Given the description of an element on the screen output the (x, y) to click on. 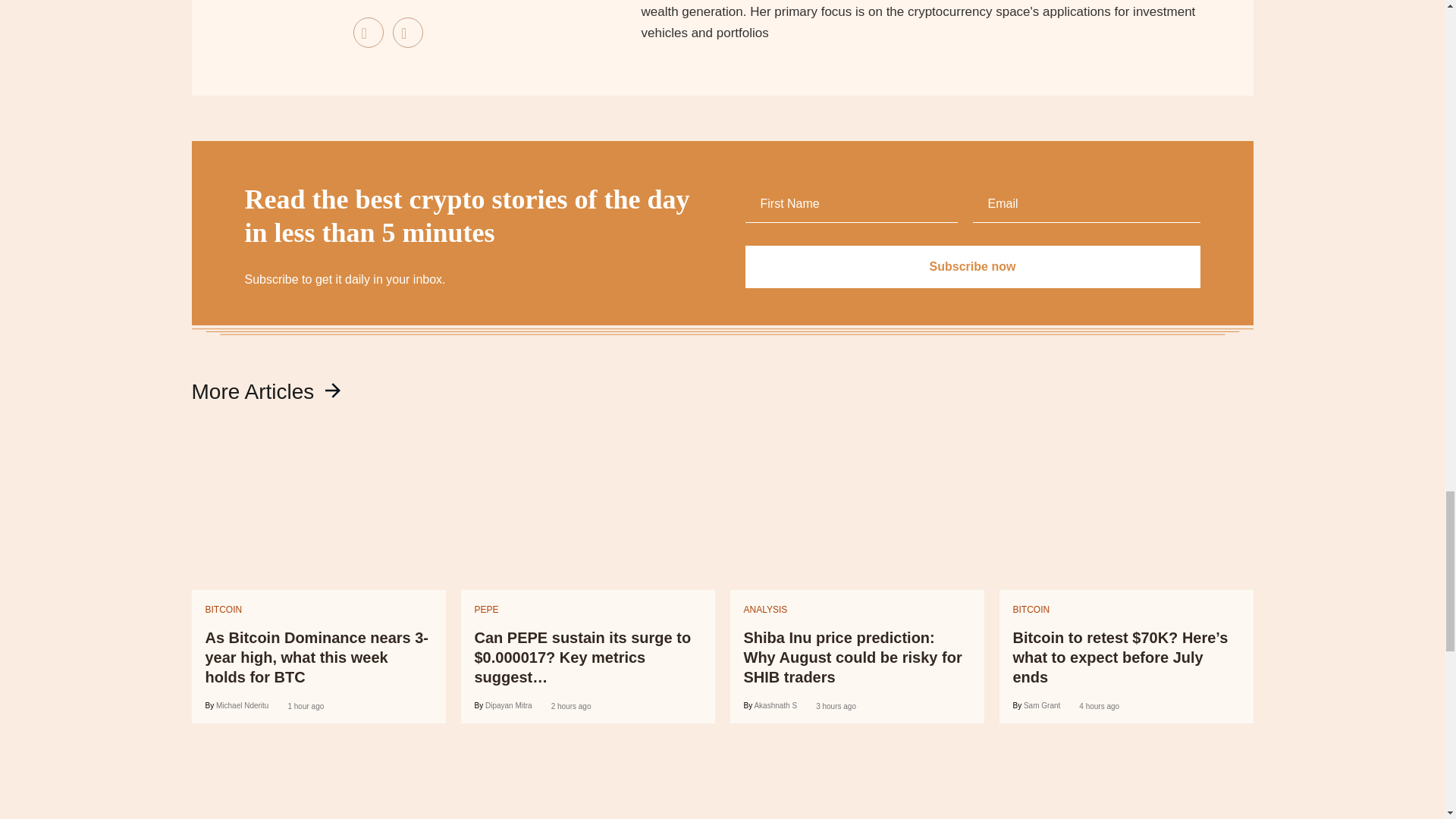
Subscribe now (971, 266)
